Given the description of an element on the screen output the (x, y) to click on. 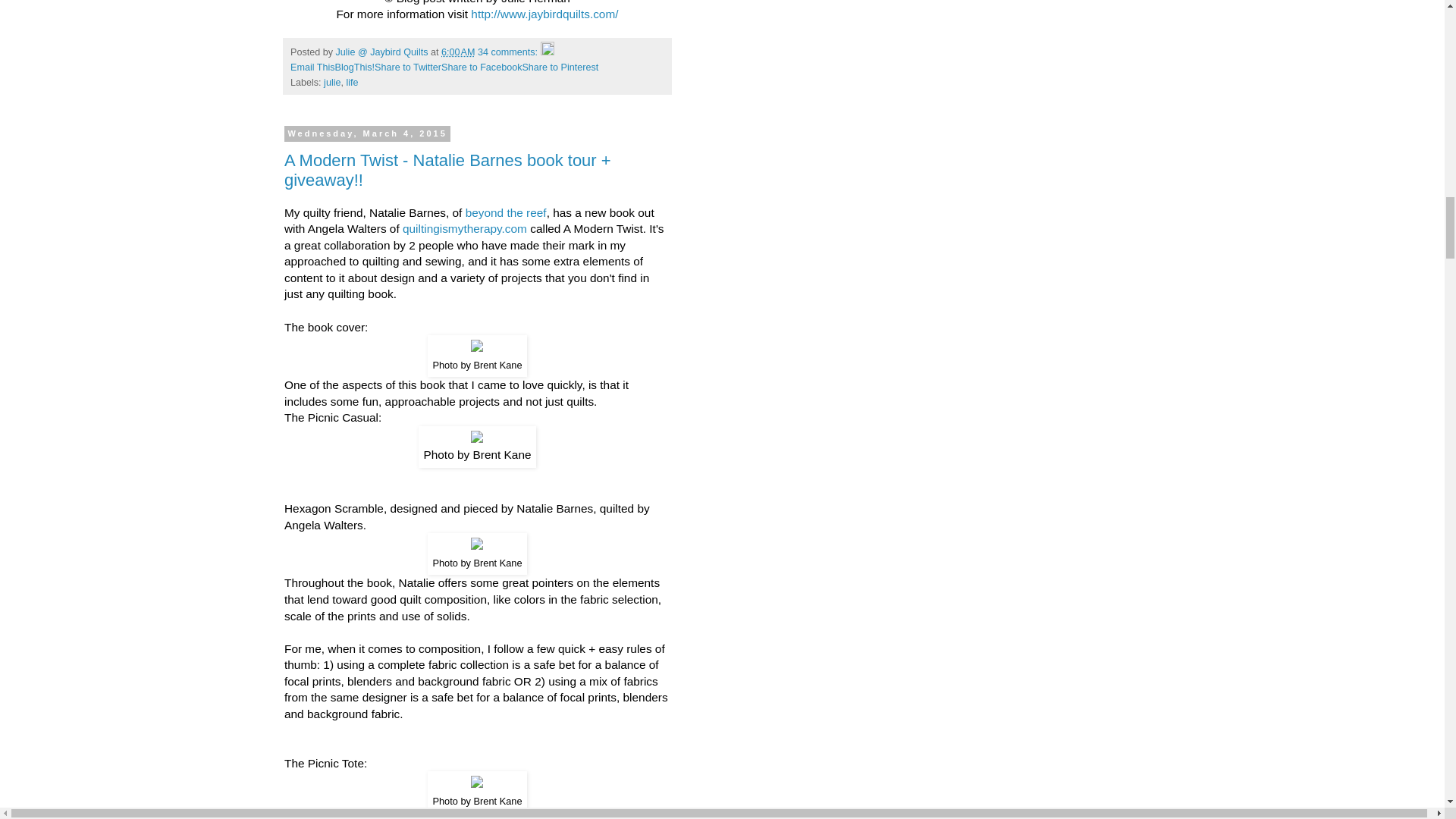
author profile (383, 51)
BlogThis! (354, 67)
Share to Facebook (481, 67)
Email This (311, 67)
Share to Twitter (407, 67)
permanent link (457, 51)
Edit Post (547, 51)
